Given the description of an element on the screen output the (x, y) to click on. 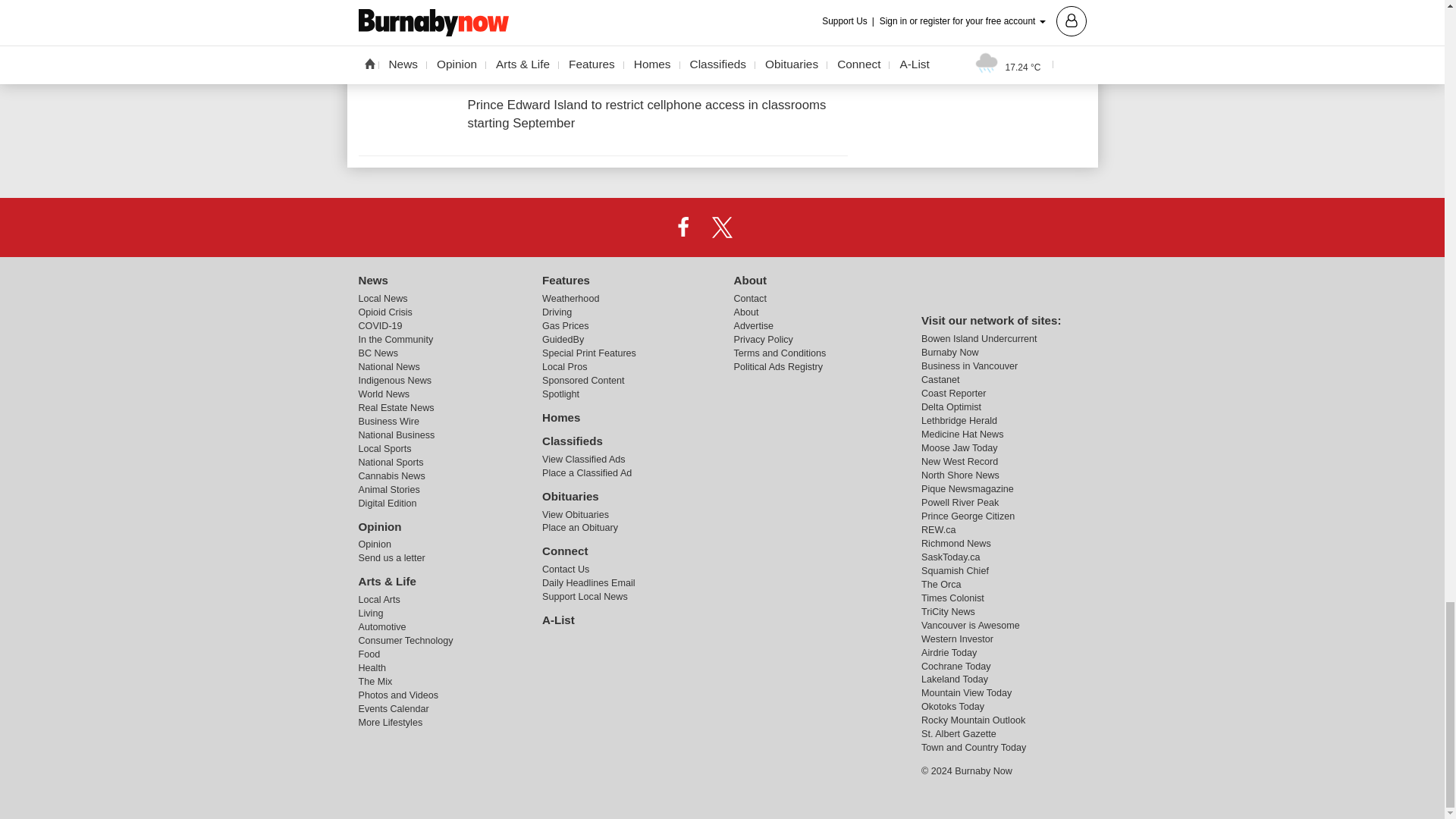
X (721, 226)
Facebook (683, 226)
Instagram (760, 226)
